Given the description of an element on the screen output the (x, y) to click on. 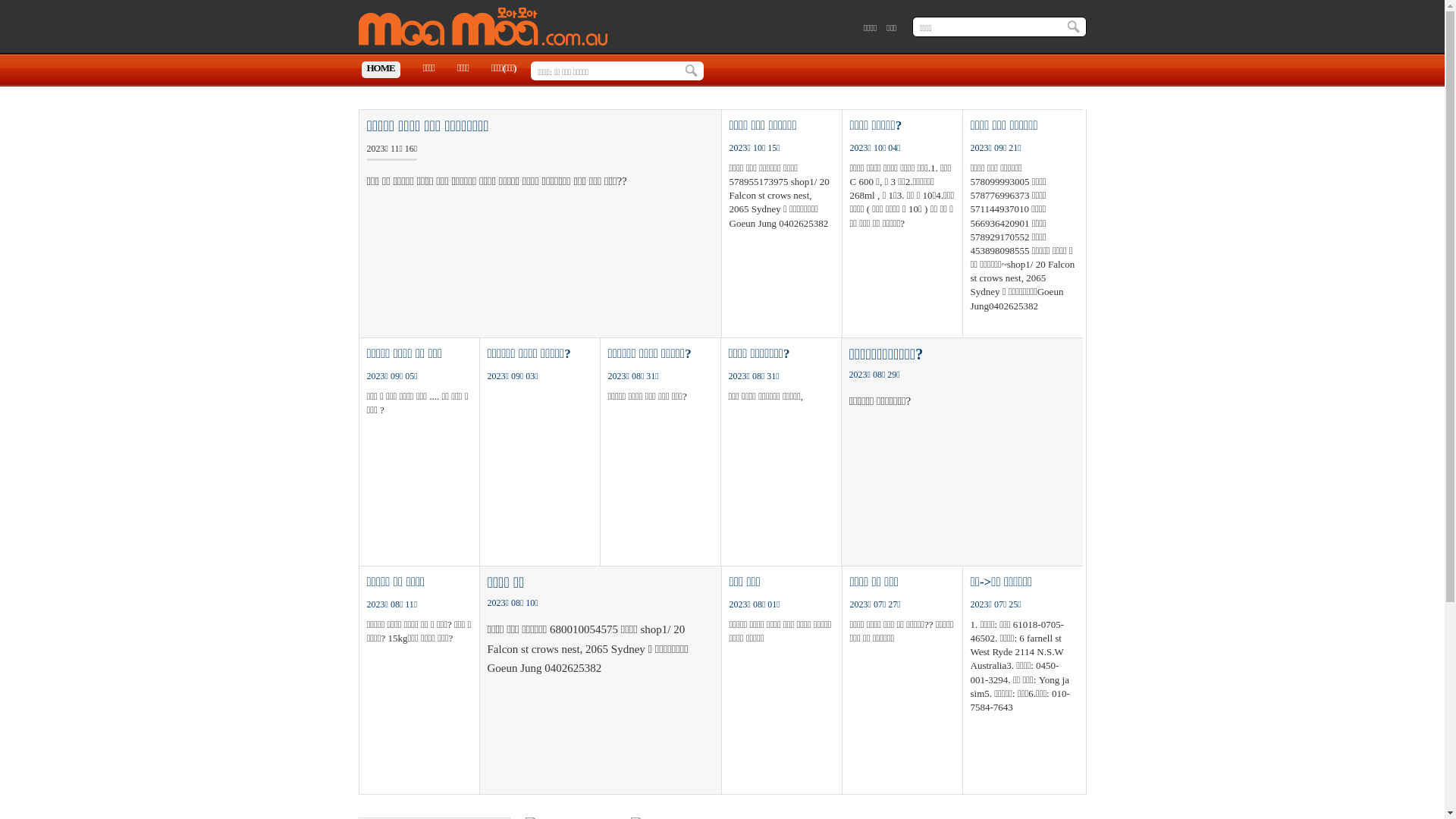
HOME Element type: text (379, 69)
